Given the description of an element on the screen output the (x, y) to click on. 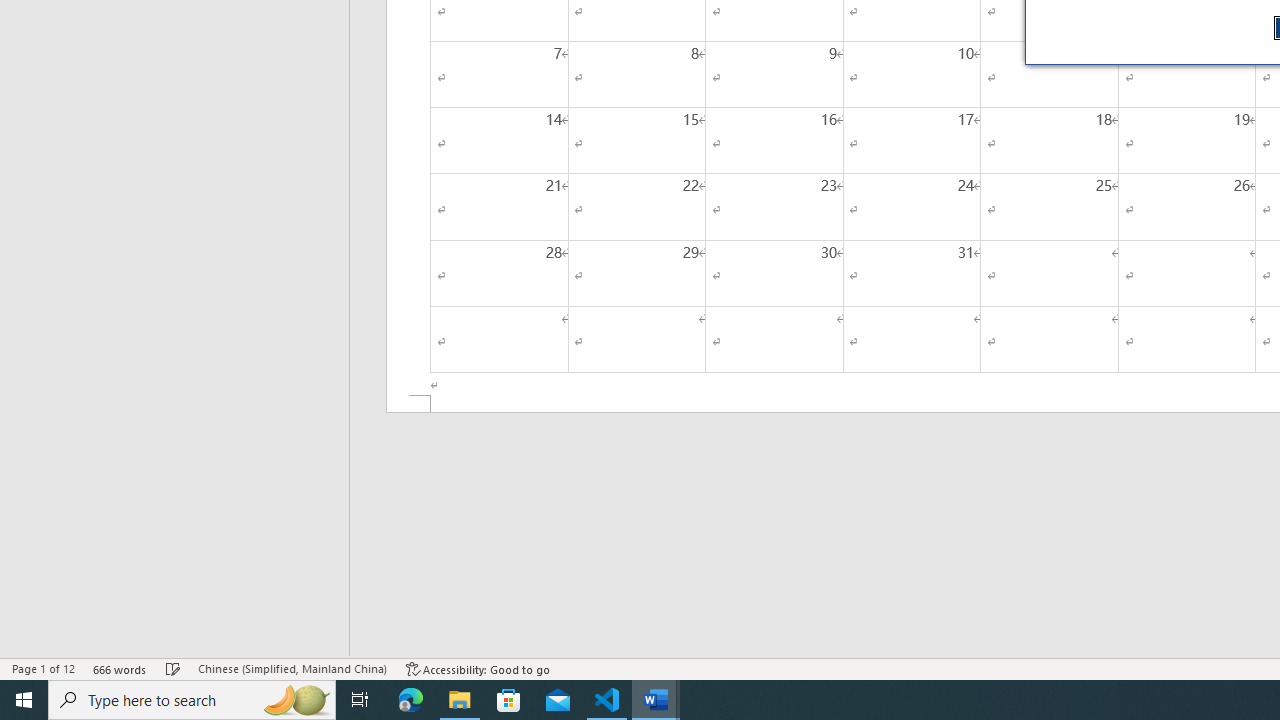
Word - 2 running windows (656, 699)
Word Count 666 words (119, 668)
File Explorer - 1 running window (460, 699)
Page Number Page 1 of 12 (43, 668)
Microsoft Edge (411, 699)
